Given the description of an element on the screen output the (x, y) to click on. 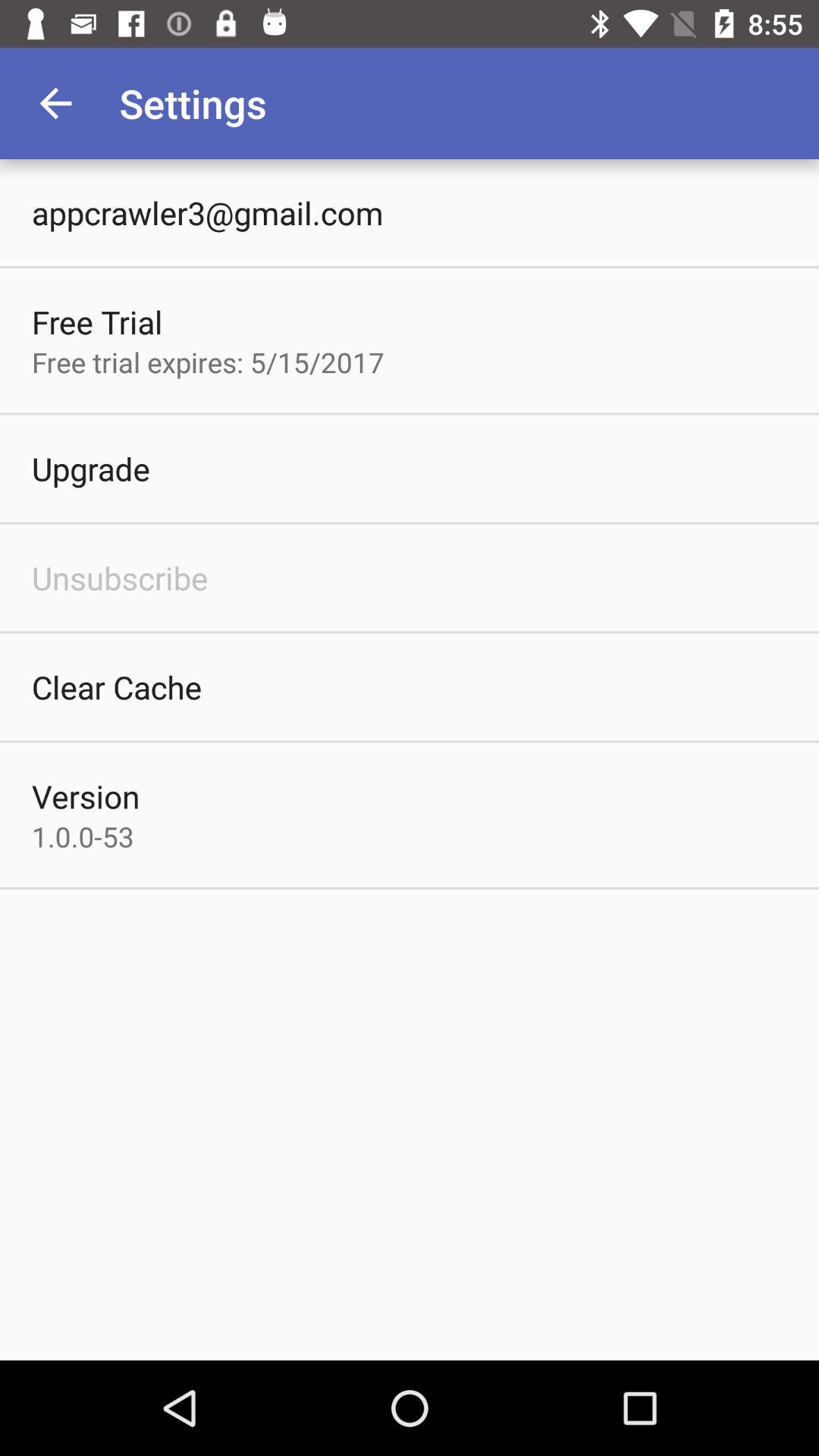
tap clear cache (116, 686)
